Given the description of an element on the screen output the (x, y) to click on. 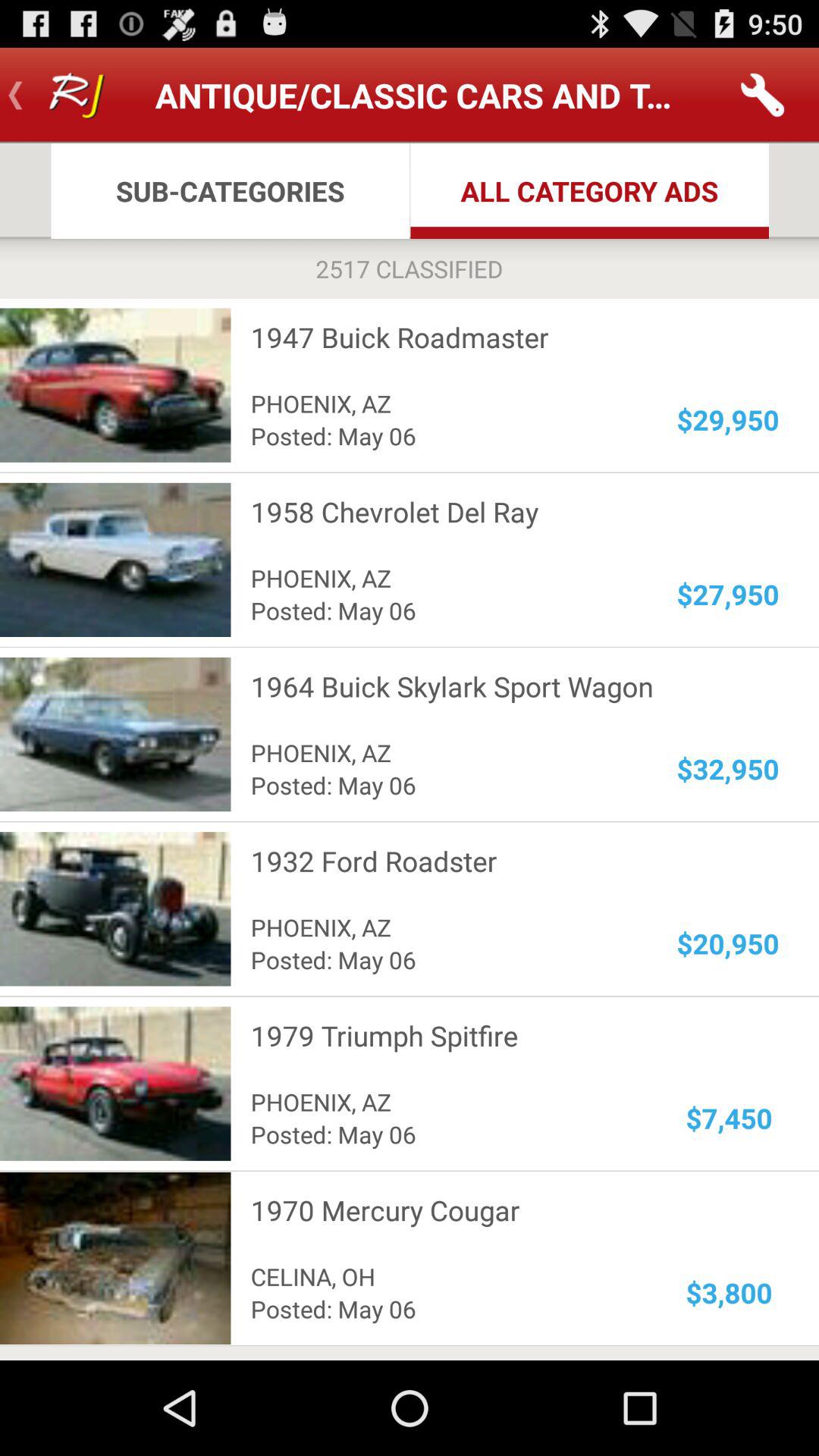
select item below the posted: may 06 (504, 1035)
